Given the description of an element on the screen output the (x, y) to click on. 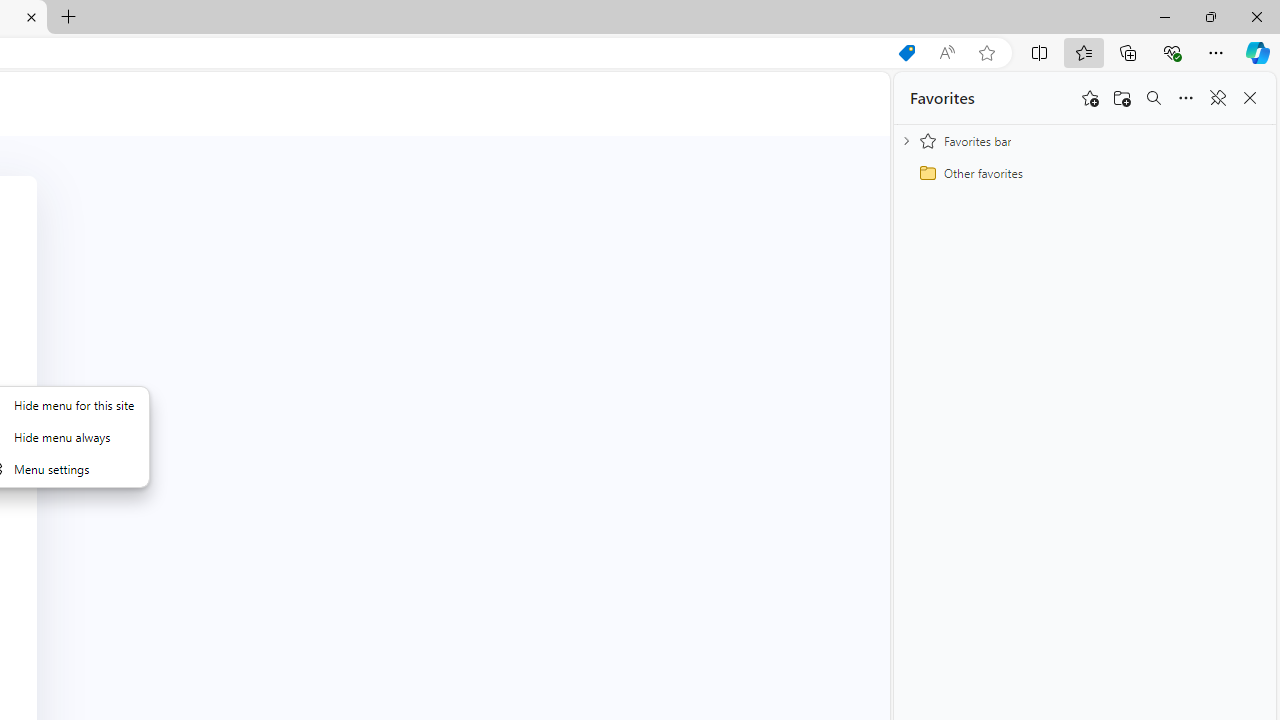
Add folder (1122, 98)
Unpin favorites (1217, 98)
Close favorites (1250, 98)
Add this page to favorites (1089, 98)
Search favorites (1153, 98)
